Given the description of an element on the screen output the (x, y) to click on. 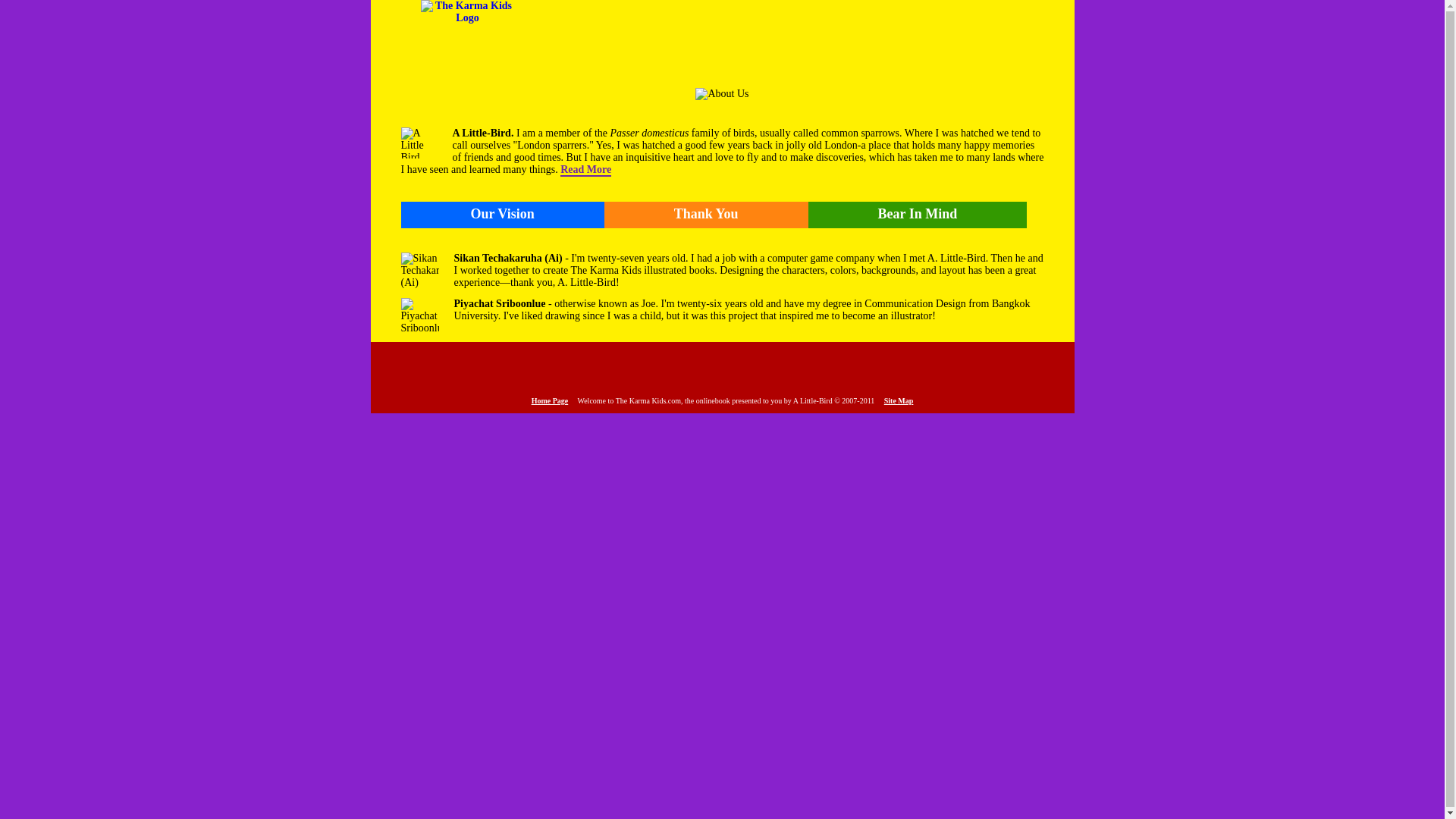
What We Do With Your Help (546, 367)
Stories (1013, 367)
Parents Pages (780, 367)
Site Map (898, 400)
Our Vision (502, 213)
Our Vision (502, 213)
Thank You (706, 213)
Home Page (550, 400)
Bear In Mind (917, 213)
Bear In Mind (917, 213)
